Given the description of an element on the screen output the (x, y) to click on. 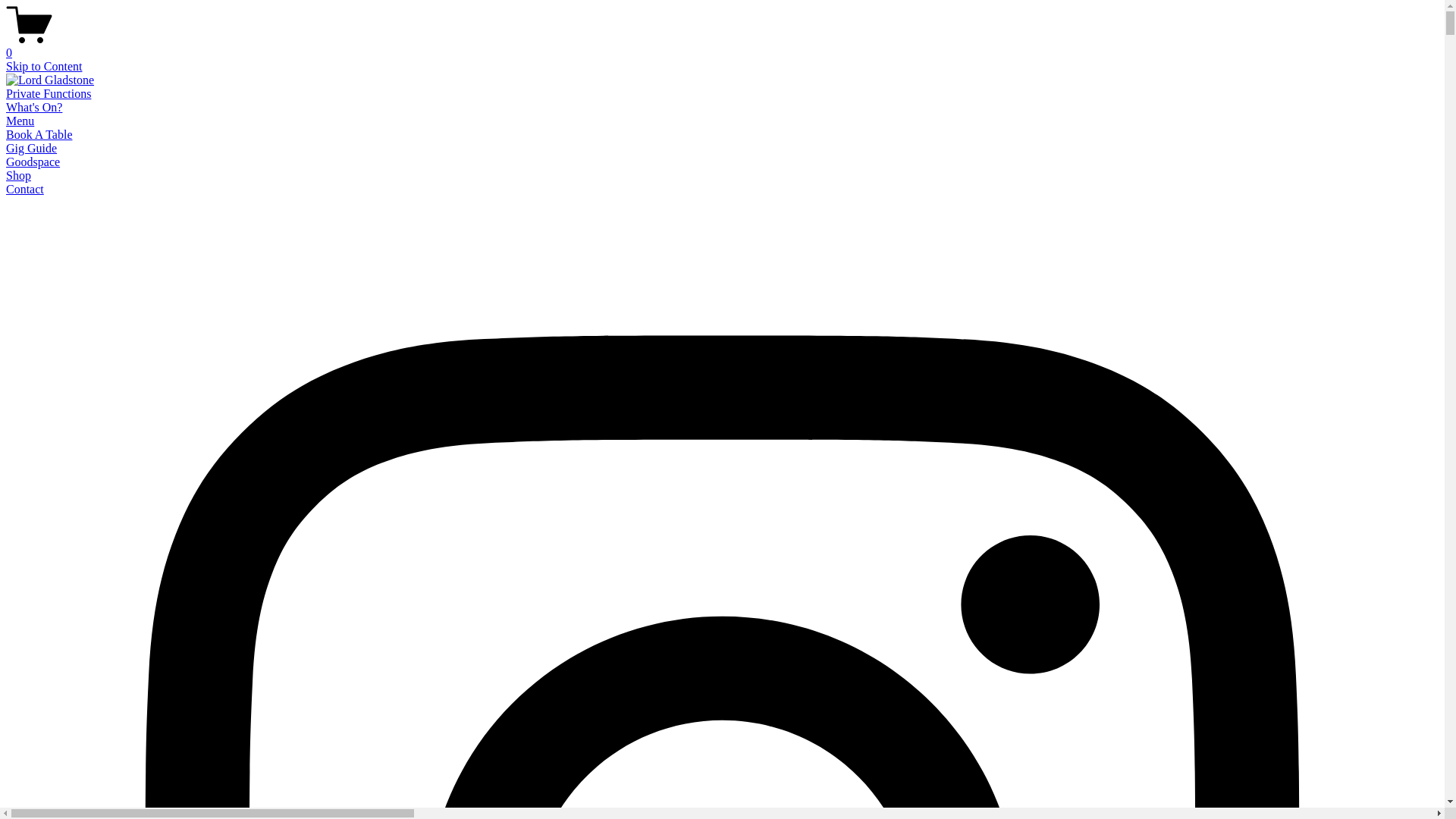
Menu Element type: text (20, 120)
Book A Table Element type: text (39, 134)
Private Functions Element type: text (48, 93)
Goodspace Element type: text (32, 161)
What's On? Element type: text (34, 106)
0 Element type: text (722, 45)
Contact Element type: text (24, 188)
Skip to Content Element type: text (43, 65)
Shop Element type: text (18, 175)
Gig Guide Element type: text (31, 147)
